Given the description of an element on the screen output the (x, y) to click on. 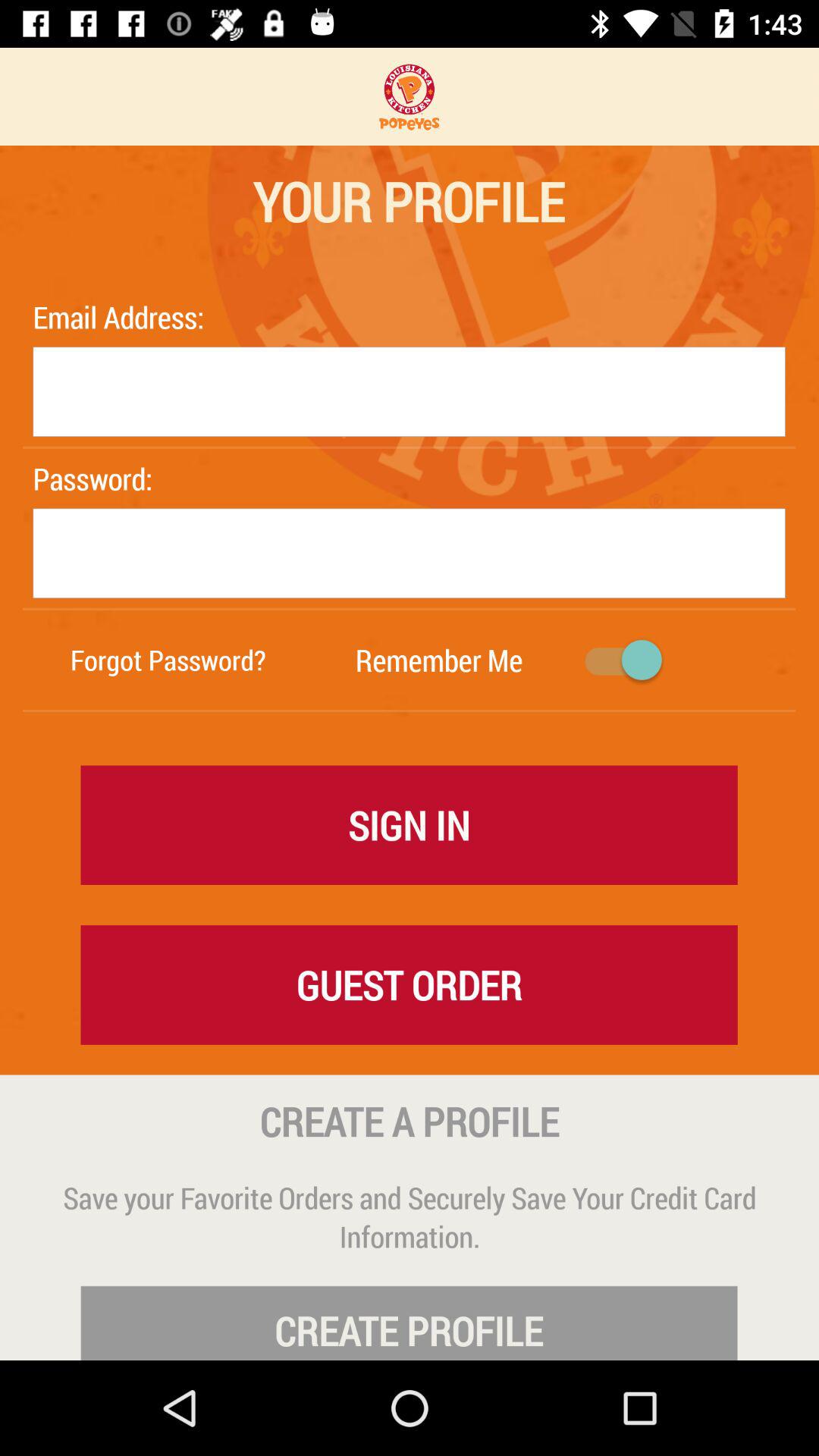
select the icon to the right of the forgot password? item (438, 659)
